Given the description of an element on the screen output the (x, y) to click on. 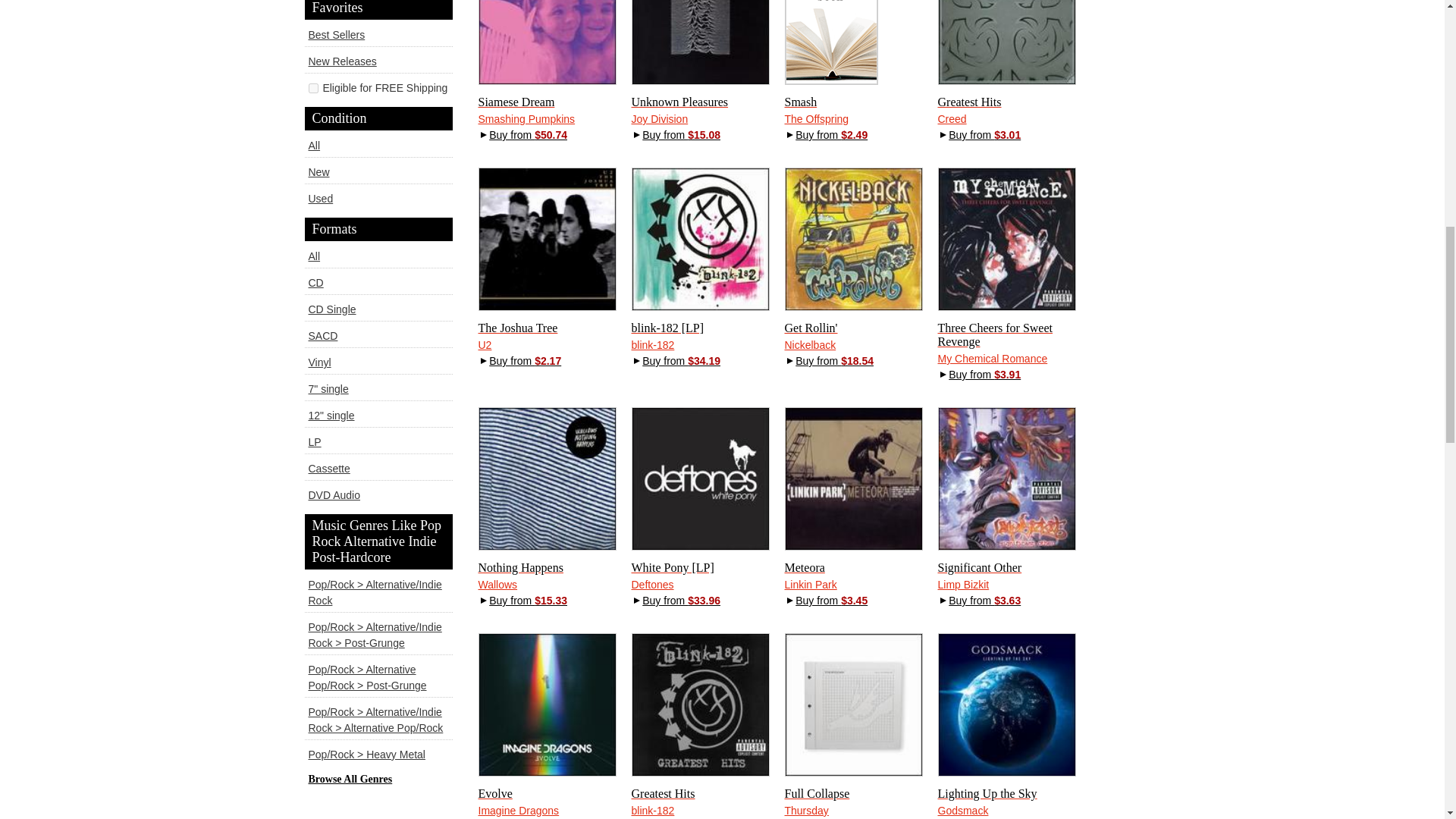
1 (312, 88)
